Given the description of an element on the screen output the (x, y) to click on. 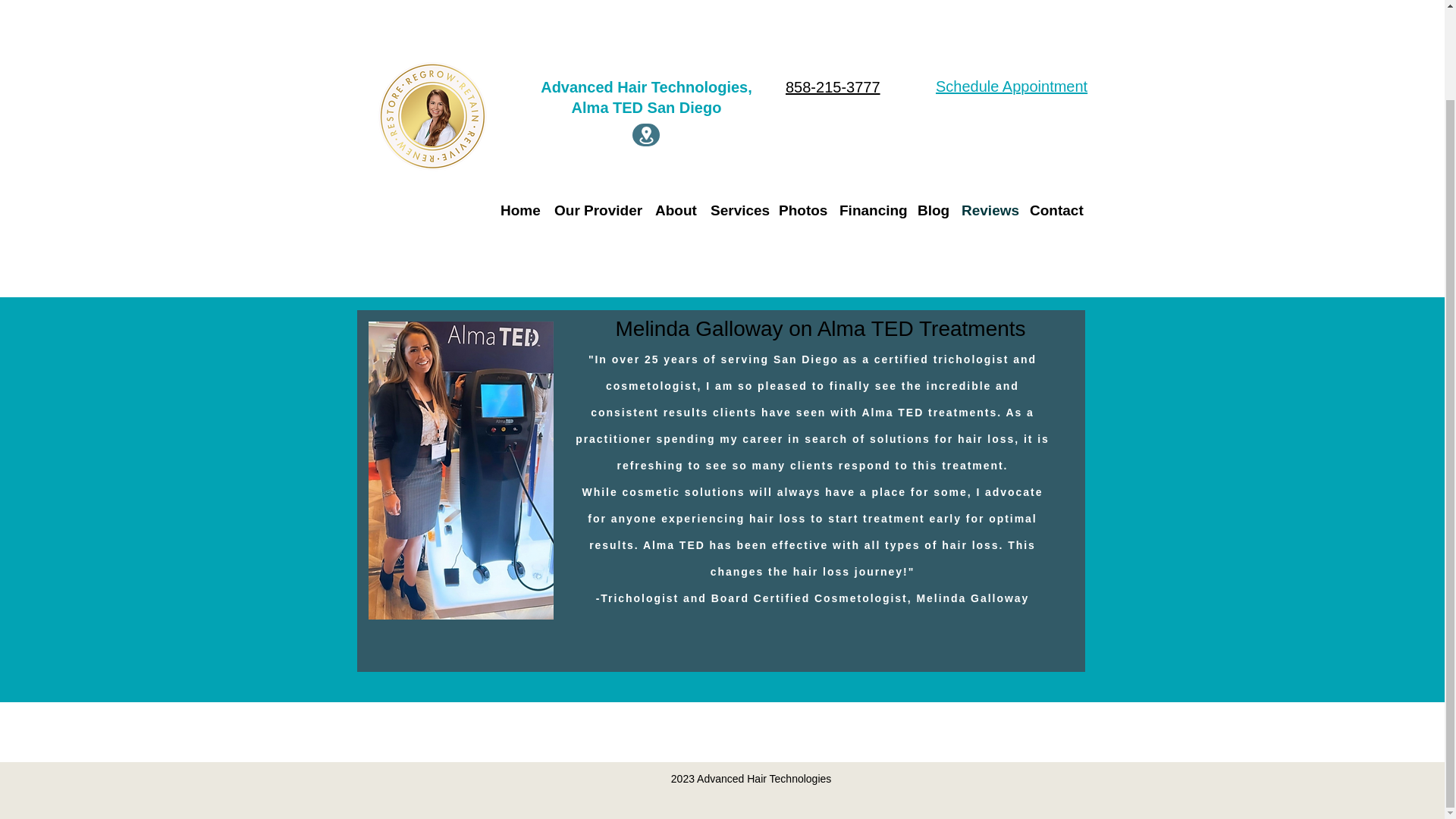
Our Provider (597, 106)
Photos (801, 106)
Reviews (987, 106)
About (675, 106)
Contact (1055, 106)
Financing (870, 106)
Home (520, 106)
Blog (931, 106)
Services (737, 106)
